Given the description of an element on the screen output the (x, y) to click on. 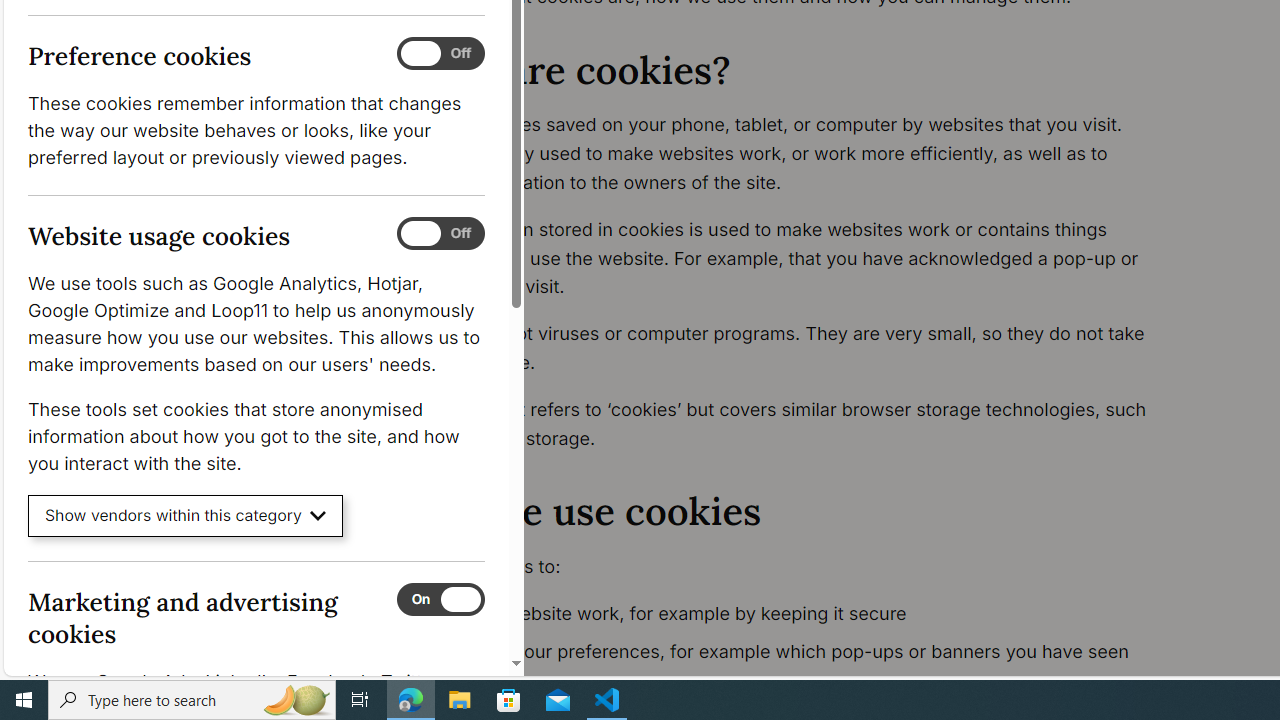
Website usage cookies (440, 233)
make our website work, for example by keeping it secure (796, 614)
Preference cookies (440, 53)
Marketing and advertising cookies (440, 599)
Show vendors within this category (185, 516)
